Given the description of an element on the screen output the (x, y) to click on. 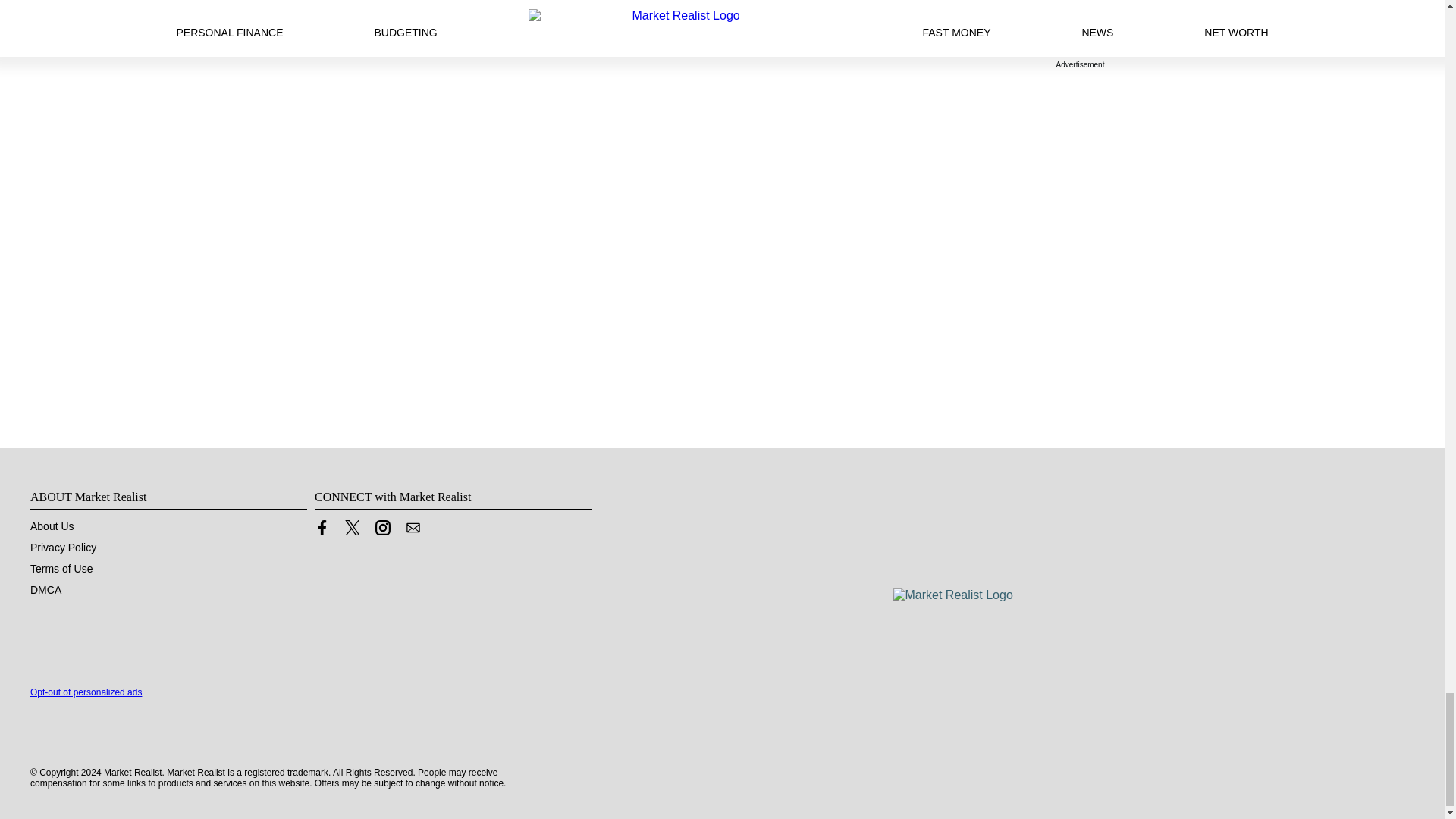
About Us (52, 526)
Link to Facebook (322, 527)
Privacy Policy (63, 547)
DMCA (45, 589)
Terms of Use (61, 568)
Link to X (352, 531)
Link to Facebook (322, 531)
About Us (52, 526)
Privacy Policy (63, 547)
Terms of Use (61, 568)
DMCA (45, 589)
Contact us by Email (413, 527)
Link to Instagram (382, 527)
Link to X (352, 527)
